Given the description of an element on the screen output the (x, y) to click on. 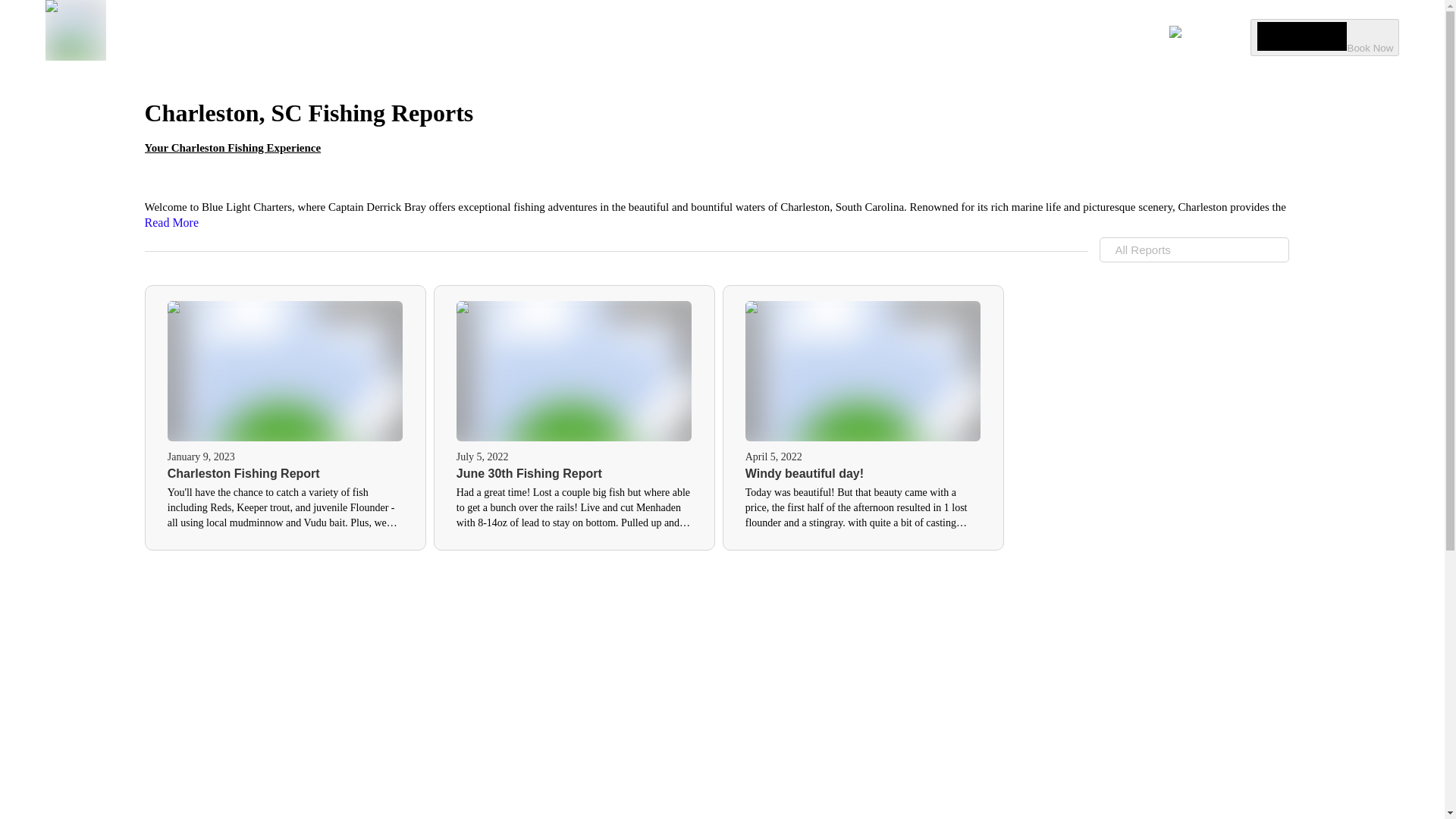
Meet the Captain (1072, 36)
Book Now (1324, 36)
Reviews (702, 36)
Gallery (607, 36)
All Reports (1193, 249)
Target Species (941, 36)
Fishing Reports (814, 36)
Home (398, 36)
